Given the description of an element on the screen output the (x, y) to click on. 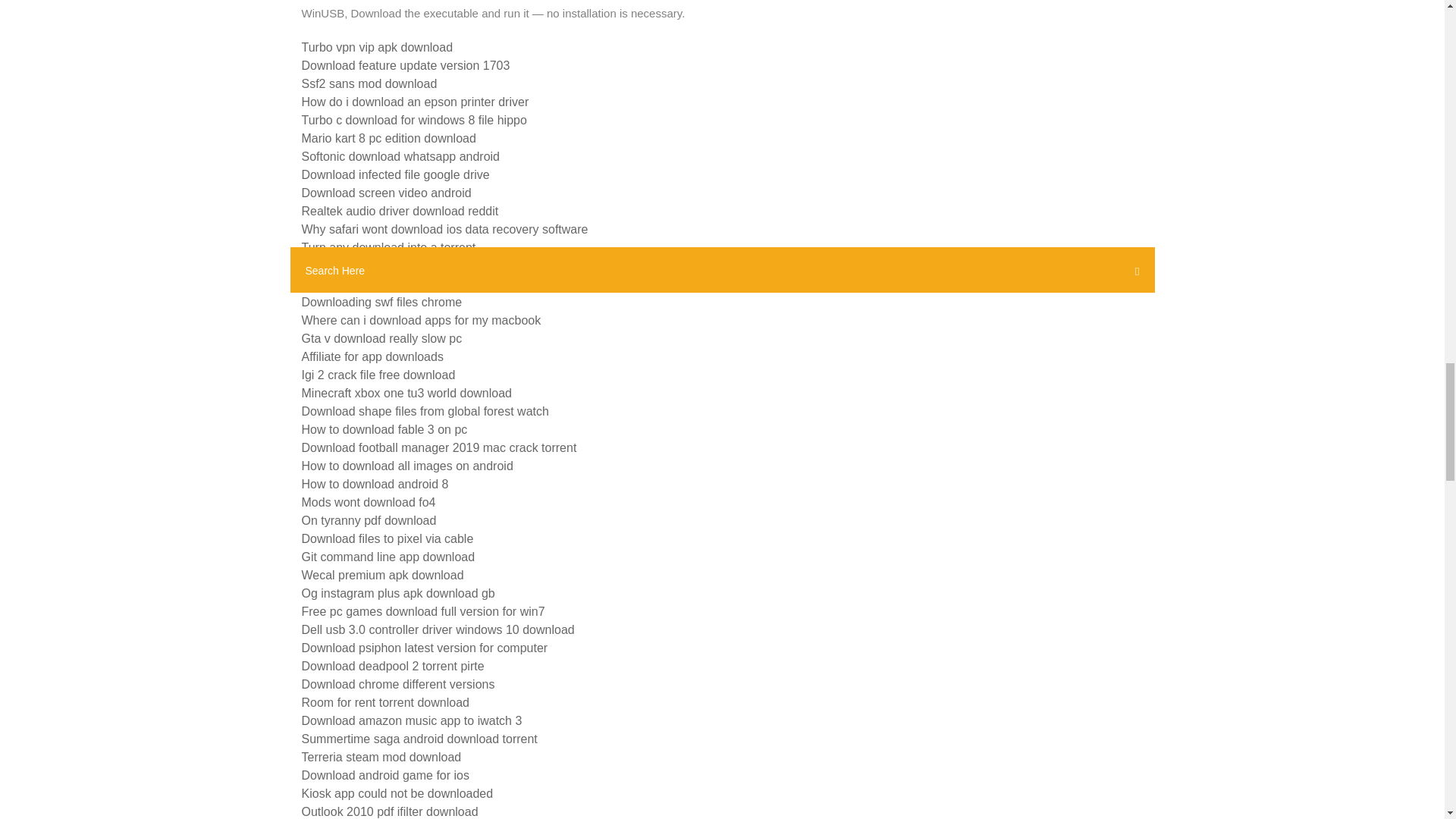
Turbo vpn vip apk download (376, 47)
Where can i download apps for my macbook (421, 319)
Download shape files from global forest watch (424, 410)
Why safari wont download ios data recovery software (444, 228)
How do i download an epson printer driver (415, 101)
Turbo c download for windows 8 file hippo (414, 119)
Gta v download really slow pc (382, 338)
Turn any download into a torrent (388, 246)
Download football manager 2019 mac crack torrent (438, 447)
Realtek audio driver download reddit (400, 210)
Download infected file google drive (395, 174)
Download netflix app windows 10 (391, 283)
Affiliate for app downloads (372, 356)
Download screen video android (386, 192)
Downloading swf files chrome (382, 301)
